Given the description of an element on the screen output the (x, y) to click on. 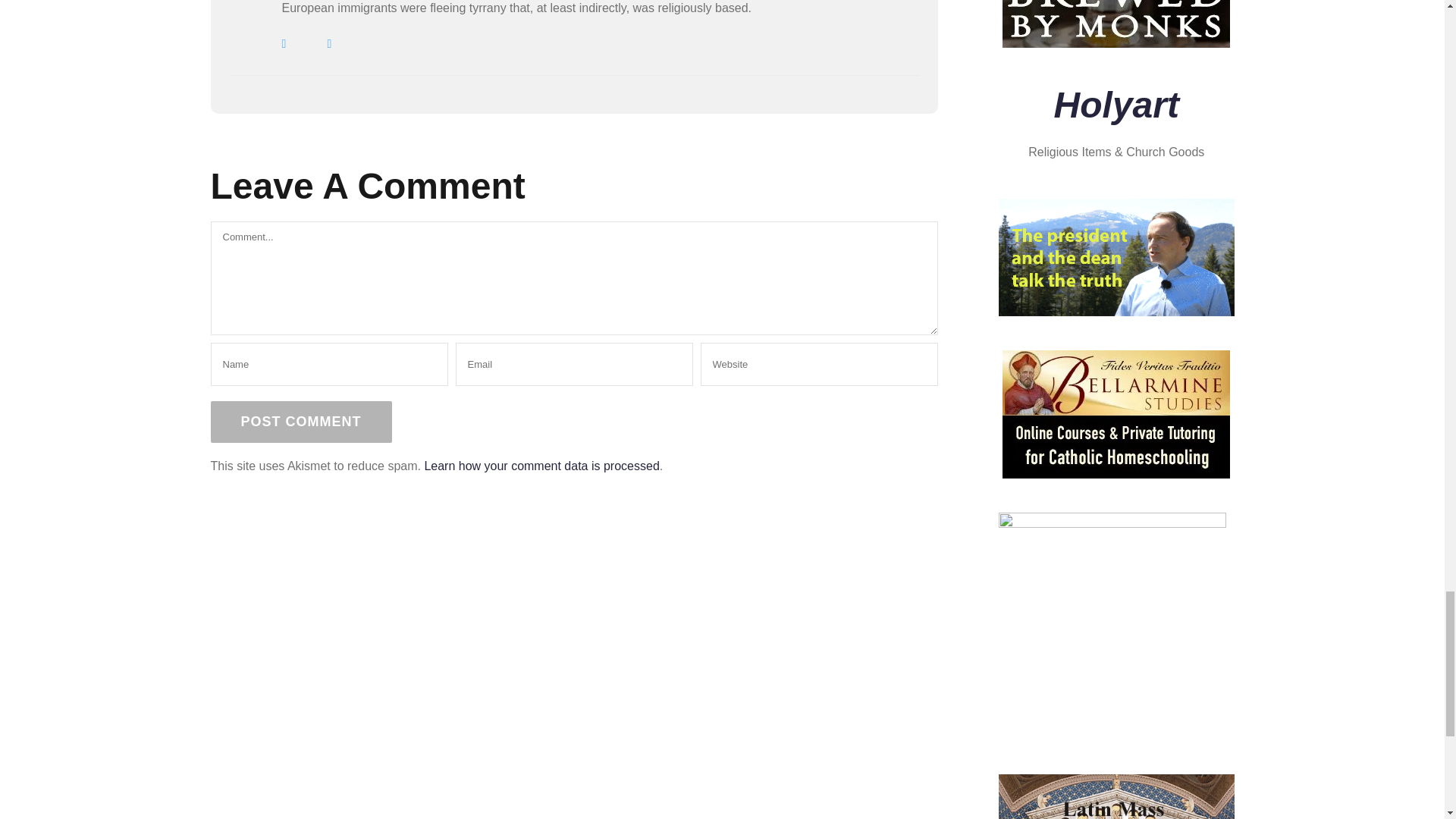
Post Comment (301, 422)
